Given the description of an element on the screen output the (x, y) to click on. 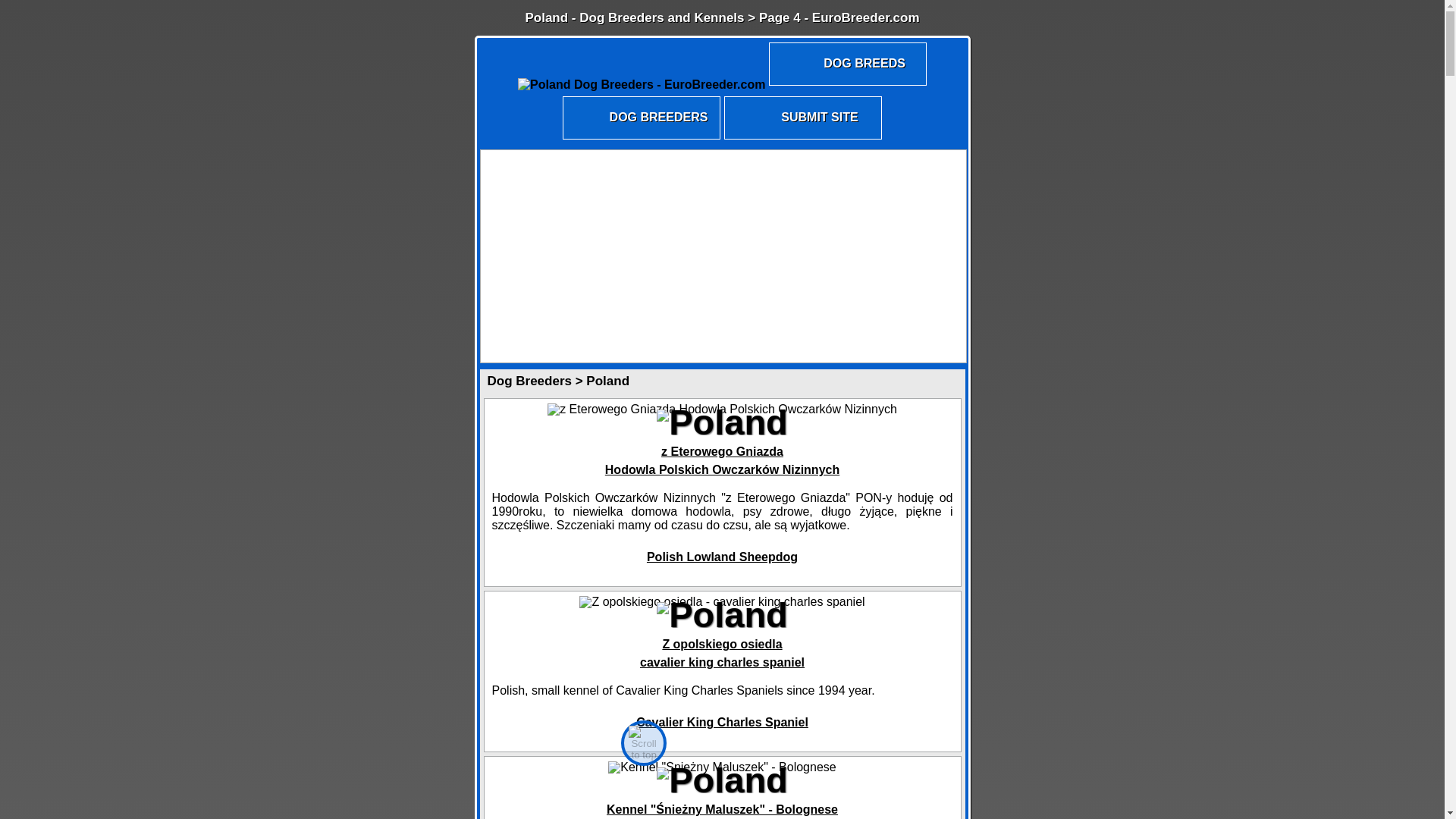
Polish Lowland Sheepdog (722, 556)
 SUBMIT SITE (722, 653)
 DOG BREEDS (802, 137)
Cavalier King Charles Spaniel (847, 83)
 DOG BREEDERS (721, 722)
